Given the description of an element on the screen output the (x, y) to click on. 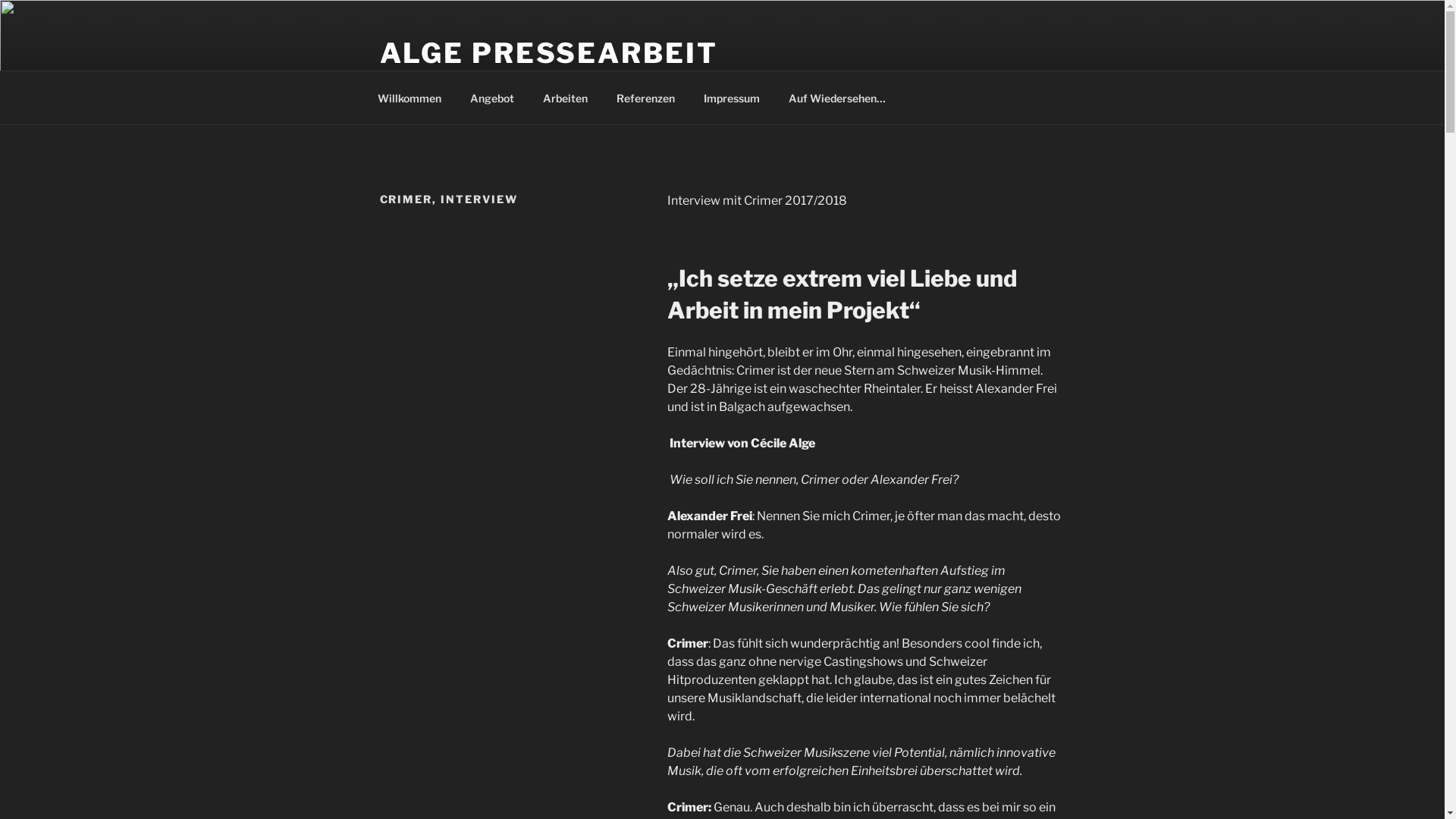
Angebot Element type: text (491, 97)
ALGE PRESSEARBEIT Element type: text (548, 52)
Impressum Element type: text (731, 97)
Referenzen Element type: text (645, 97)
Arbeiten Element type: text (564, 97)
Willkommen Element type: text (409, 97)
